Given the description of an element on the screen output the (x, y) to click on. 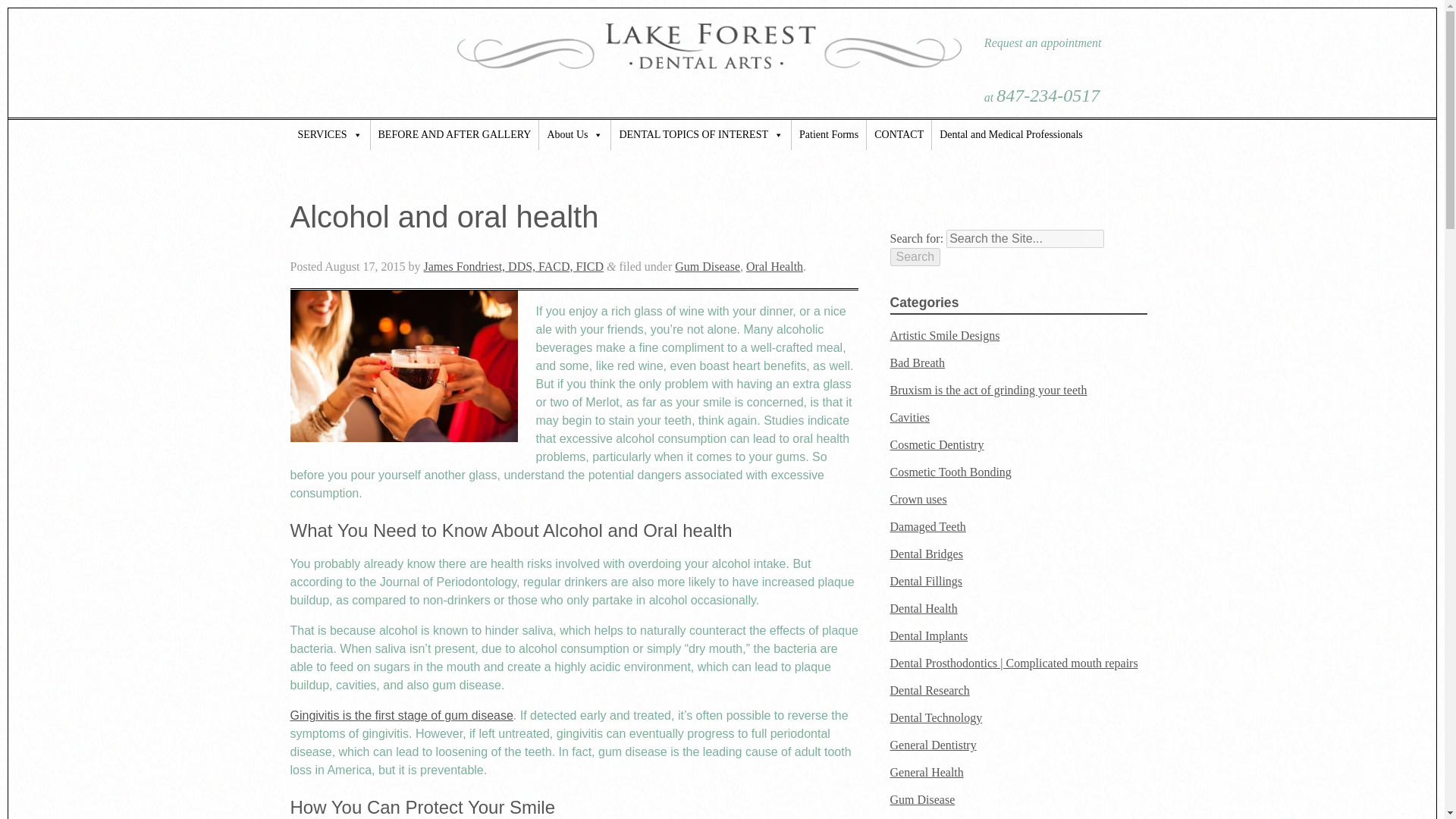
Search (914, 257)
Request an appointment (1043, 56)
Patient Forms (829, 134)
BEFORE AND AFTER GALLERY (454, 134)
CONTACT (898, 134)
Cosmetic Dentistry before and afters (454, 134)
SERVICES (329, 134)
DENTAL TOPICS OF INTEREST (700, 134)
About Us (574, 134)
Dental and Medical Professionals (1010, 134)
